Given the description of an element on the screen output the (x, y) to click on. 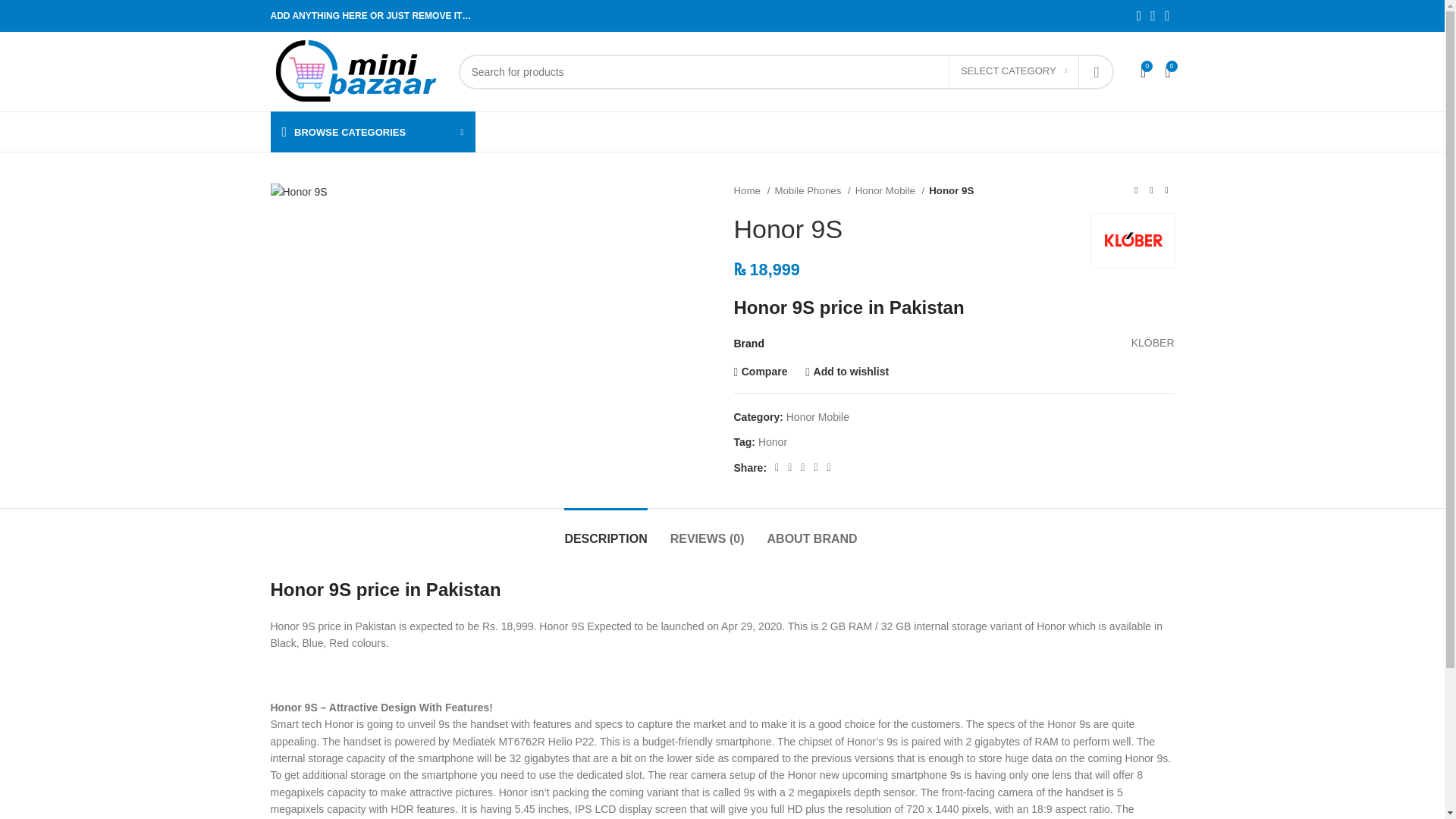
SELECT CATEGORY (1013, 71)
Honor 9S1 (297, 191)
SELECT CATEGORY (1013, 71)
SEARCH (1095, 71)
Search for products (785, 71)
